Given the description of an element on the screen output the (x, y) to click on. 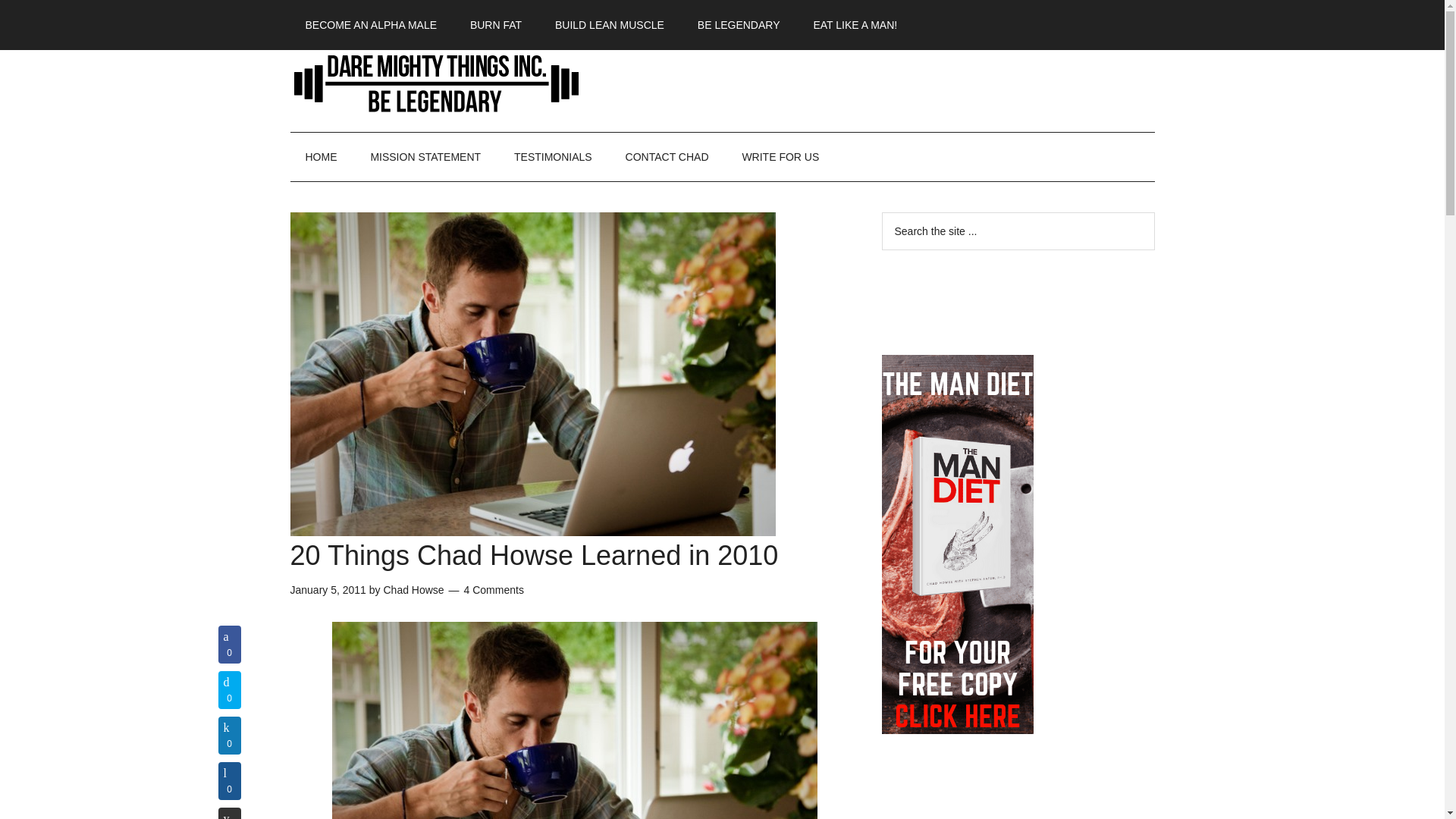
Share on Reddit (229, 813)
MISSION STATEMENT (425, 156)
chad-howse-70 (573, 720)
0 (229, 813)
Chad Howse (413, 589)
BE LEGENDARY (738, 24)
WRITE FOR US (780, 156)
BECOME AN ALPHA MALE (370, 24)
HOME (320, 156)
CONTACT CHAD (666, 156)
EAT LIKE A MAN! (854, 24)
TESTIMONIALS (553, 156)
